Given the description of an element on the screen output the (x, y) to click on. 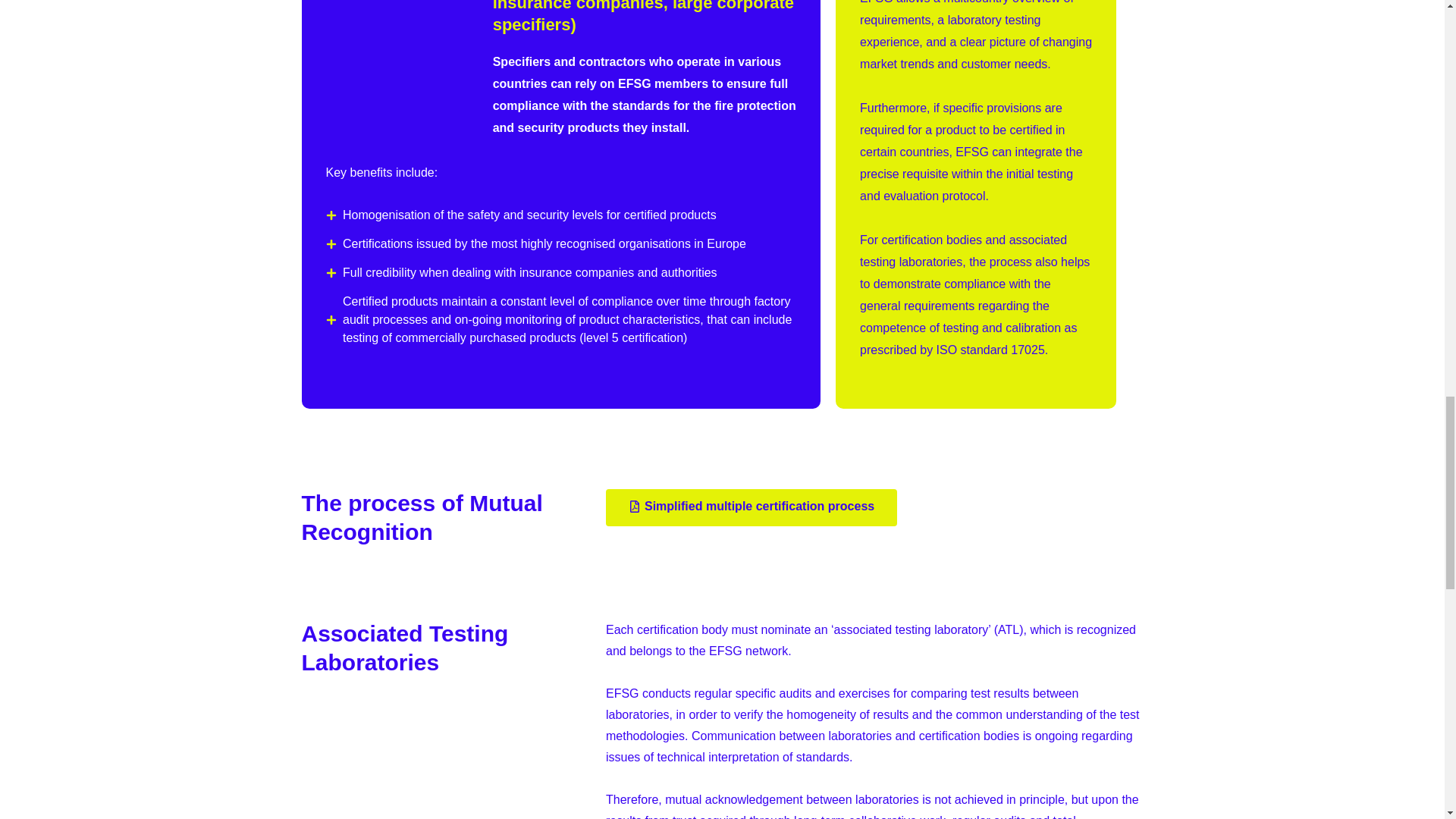
Simplified multiple certification process (750, 507)
